Given the description of an element on the screen output the (x, y) to click on. 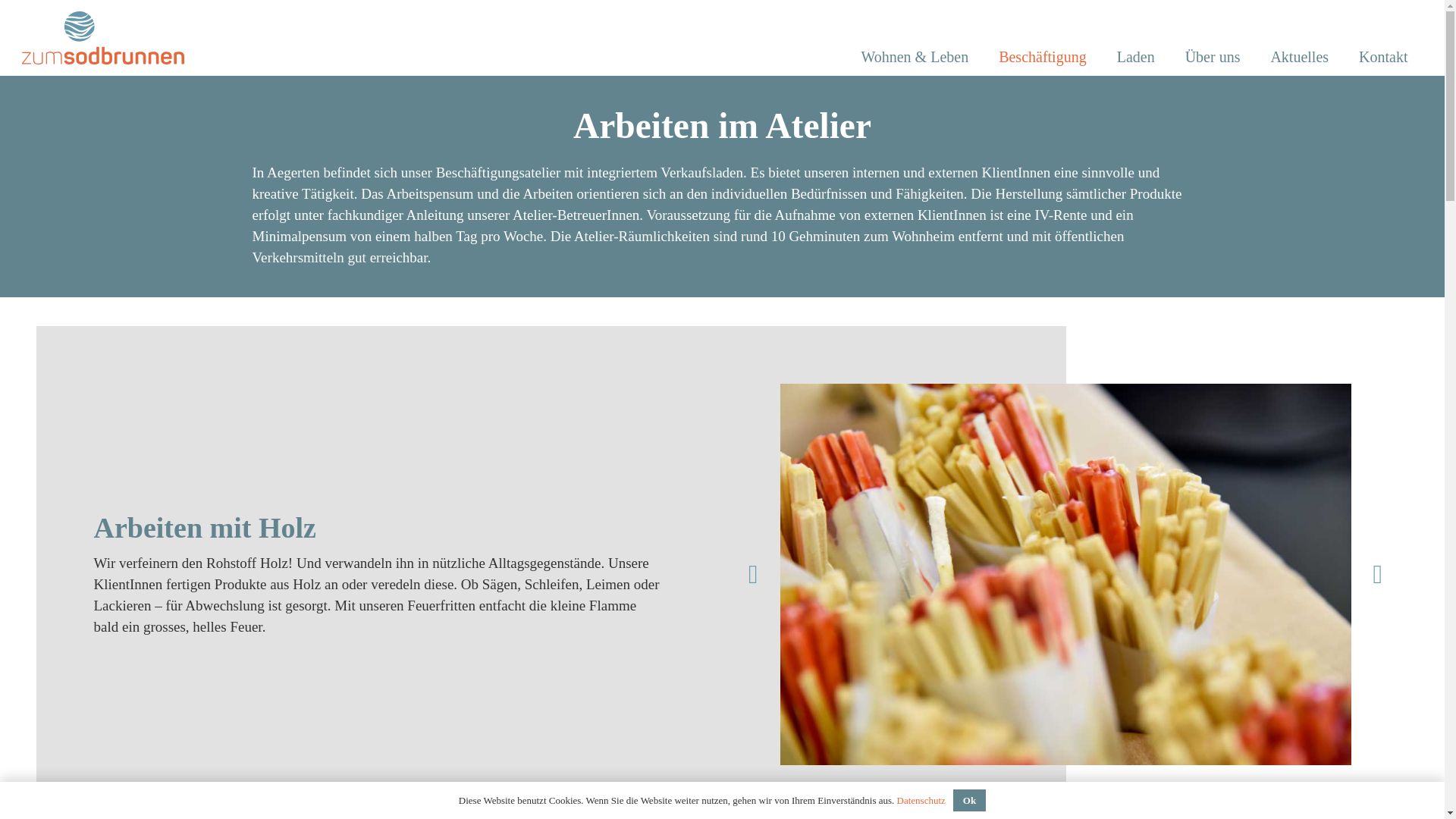
Datenschutz Element type: text (921, 800)
Kontakt Element type: text (1382, 56)
Laden Element type: text (1135, 56)
Ok Element type: text (969, 800)
Aktuelles Element type: text (1299, 56)
Wohnen & Leben Element type: text (914, 56)
